Given the description of an element on the screen output the (x, y) to click on. 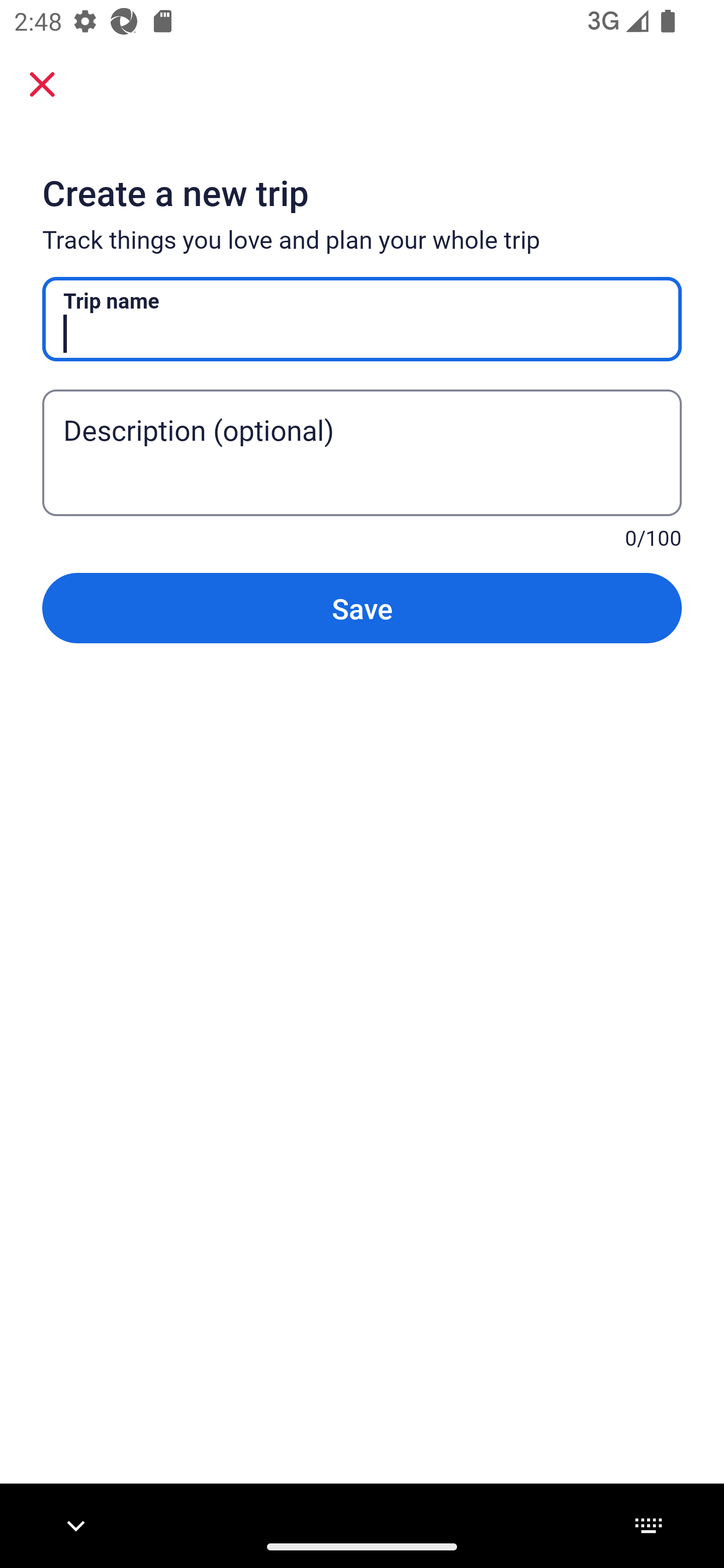
Close (41, 83)
Trip name (361, 318)
Save Button Save (361, 607)
